Given the description of an element on the screen output the (x, y) to click on. 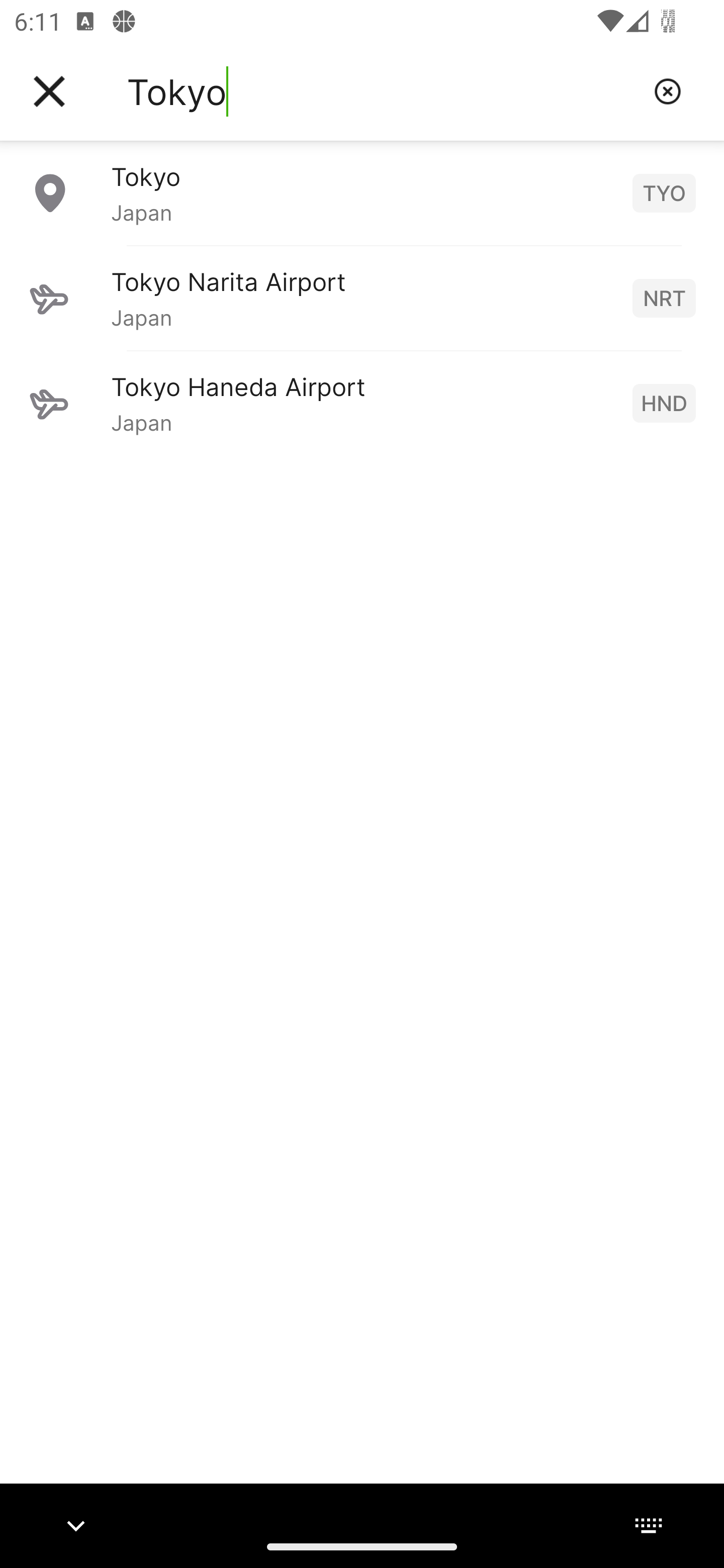
Tokyo (382, 91)
Tokyo Japan TYO (362, 192)
Tokyo Narita Airport Japan NRT (362, 297)
Tokyo Haneda Airport Japan HND (362, 402)
